Given the description of an element on the screen output the (x, y) to click on. 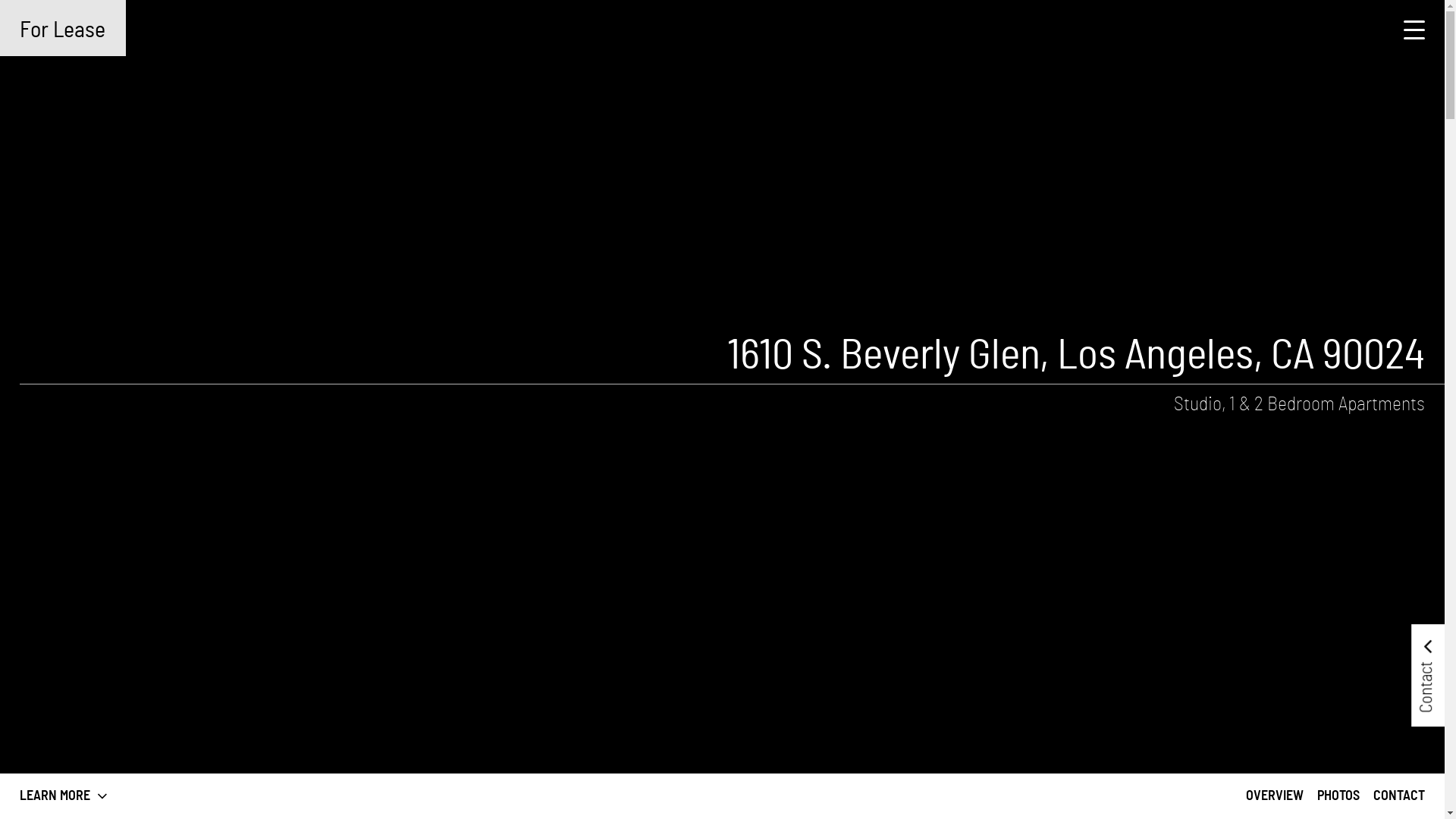
CONTACT Element type: text (1398, 796)
PHOTOS Element type: text (1338, 796)
OVERVIEW Element type: text (1274, 796)
